Given the description of an element on the screen output the (x, y) to click on. 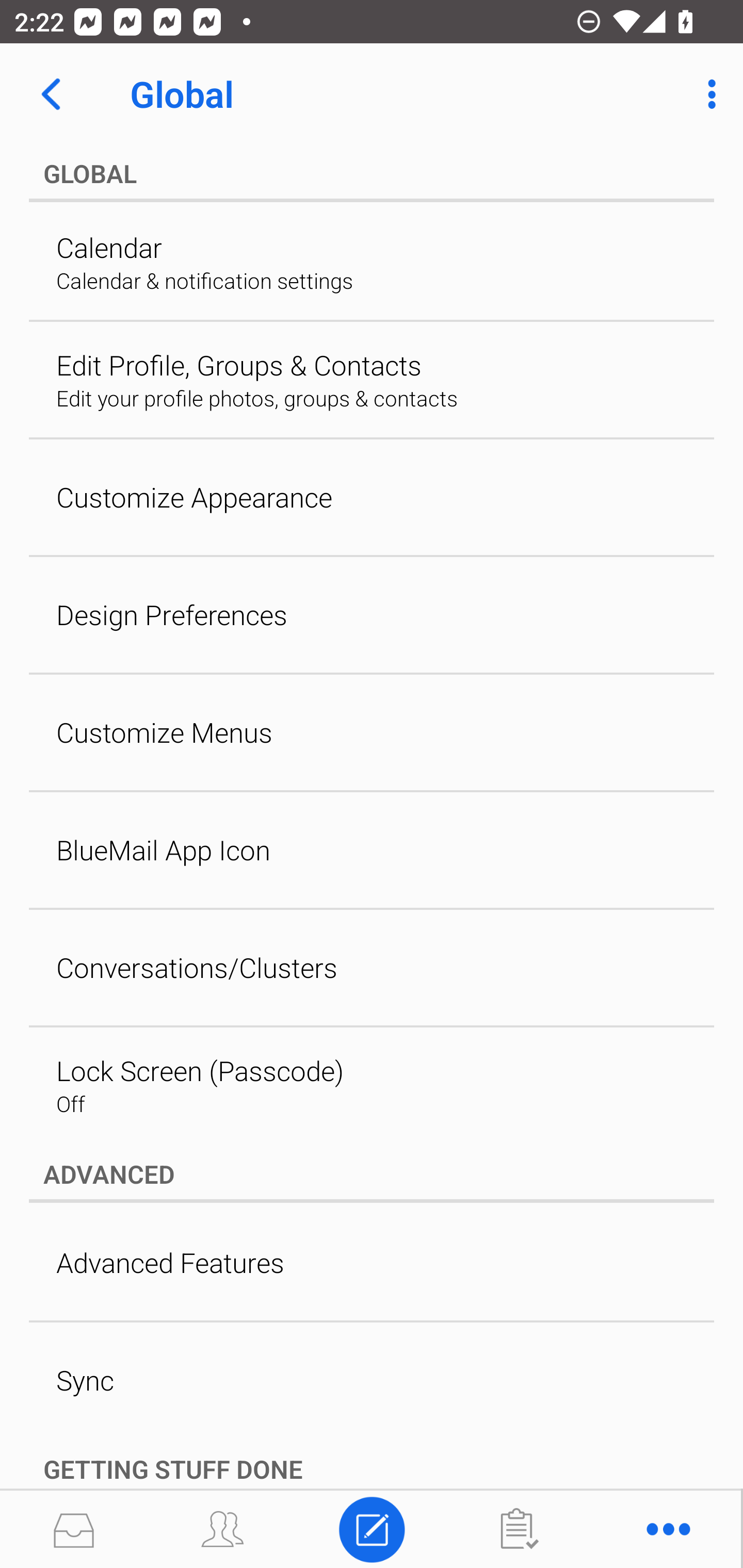
Navigate up (50, 93)
More Options (706, 93)
Calendar Calendar & notification settings (371, 261)
Customize Appearance (371, 497)
Design Preferences (371, 614)
Customize Menus (371, 732)
BlueMail App Icon (371, 849)
Conversations/Clusters (371, 967)
Lock Screen (Passcode) Off (371, 1085)
Advanced Features (371, 1262)
Sync (371, 1379)
